Given the description of an element on the screen output the (x, y) to click on. 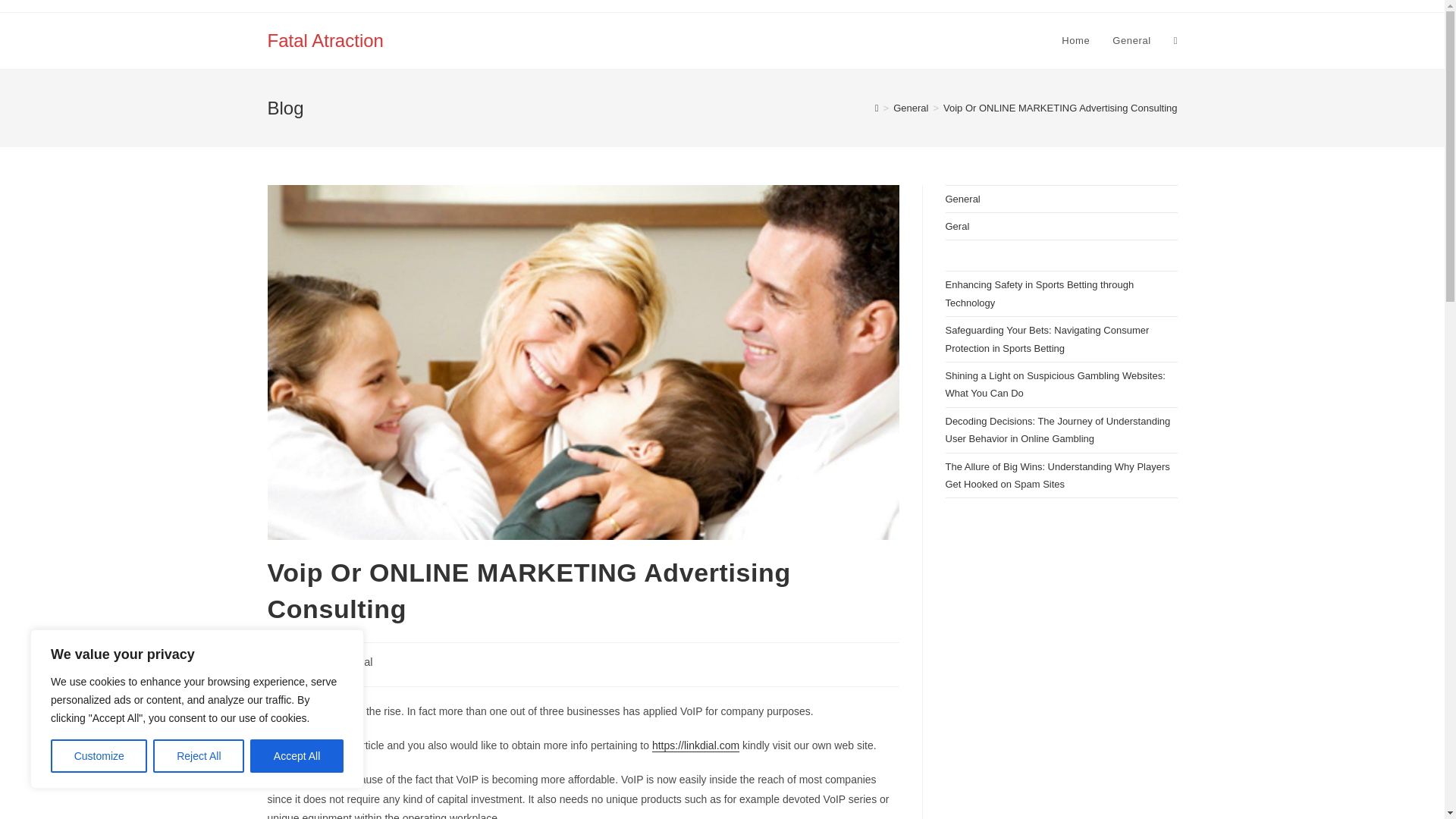
Customize (98, 756)
Voip Or ONLINE MARKETING Advertising Consulting (1060, 107)
General (352, 662)
General (910, 107)
Home (1074, 40)
General (1130, 40)
Reject All (198, 756)
Fatal Atraction (324, 40)
Accept All (296, 756)
